Given the description of an element on the screen output the (x, y) to click on. 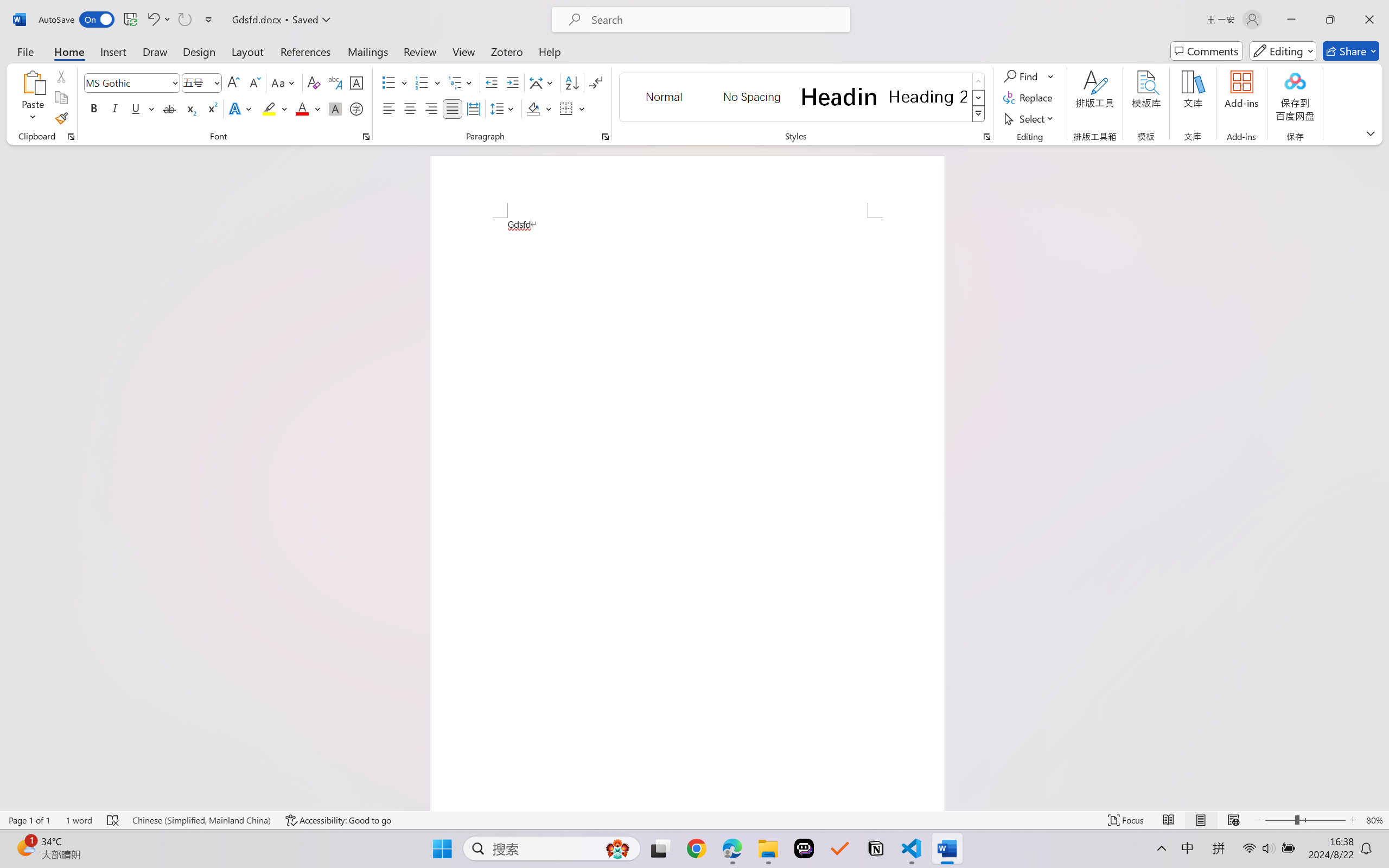
Microsoft search (715, 19)
